Given the description of an element on the screen output the (x, y) to click on. 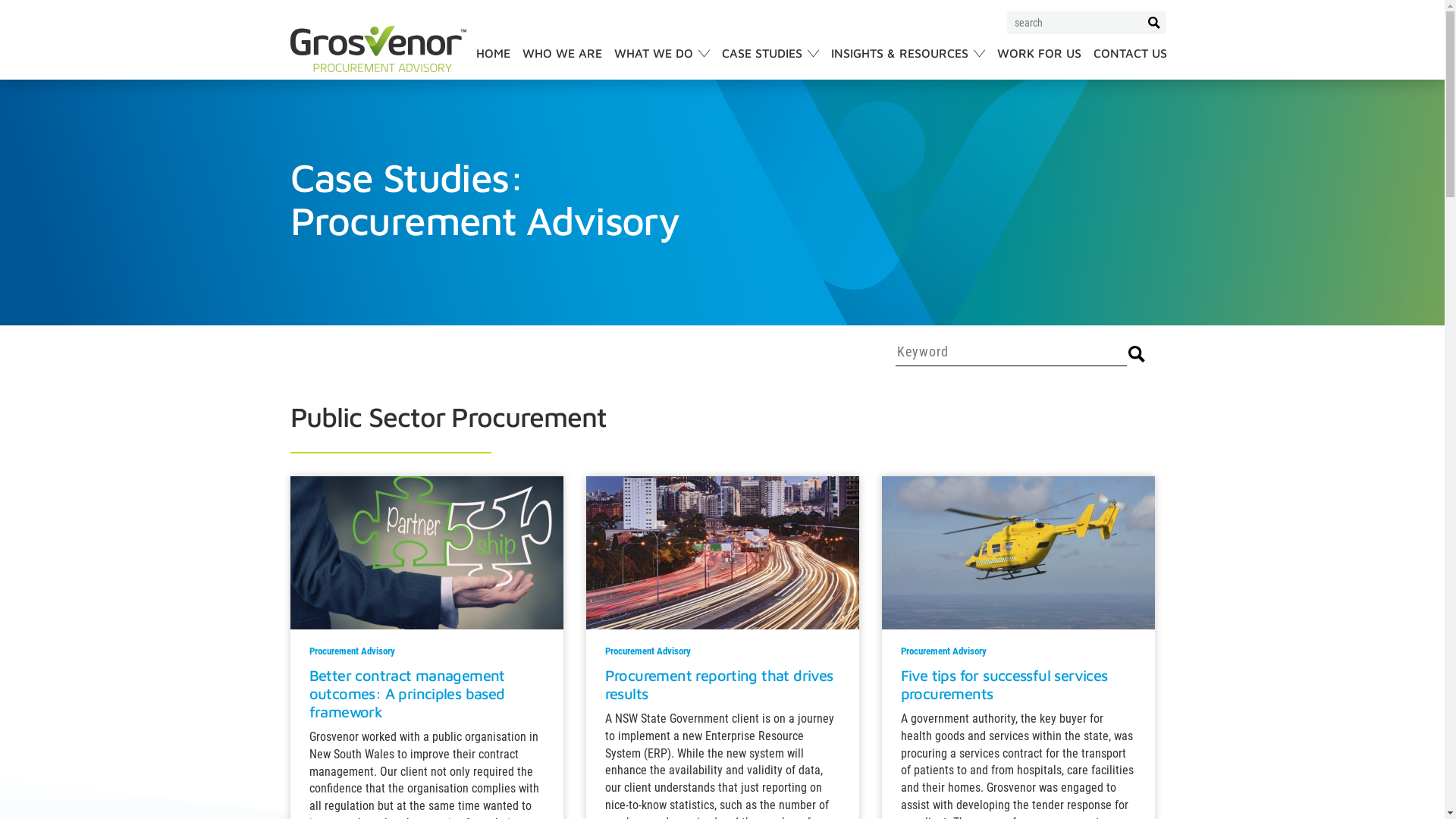
HOME Element type: text (493, 62)
WORK FOR US Element type: text (1038, 62)
WHO WE ARE Element type: text (561, 62)
CONTACT US Element type: text (1130, 62)
search Element type: text (1153, 22)
search Element type: text (1136, 353)
Subscribe now! Element type: text (1094, 395)
WHAT WE DO Element type: text (661, 62)
CASE STUDIES Element type: text (770, 62)
INSIGHTS & RESOURCES Element type: text (908, 62)
